Given the description of an element on the screen output the (x, y) to click on. 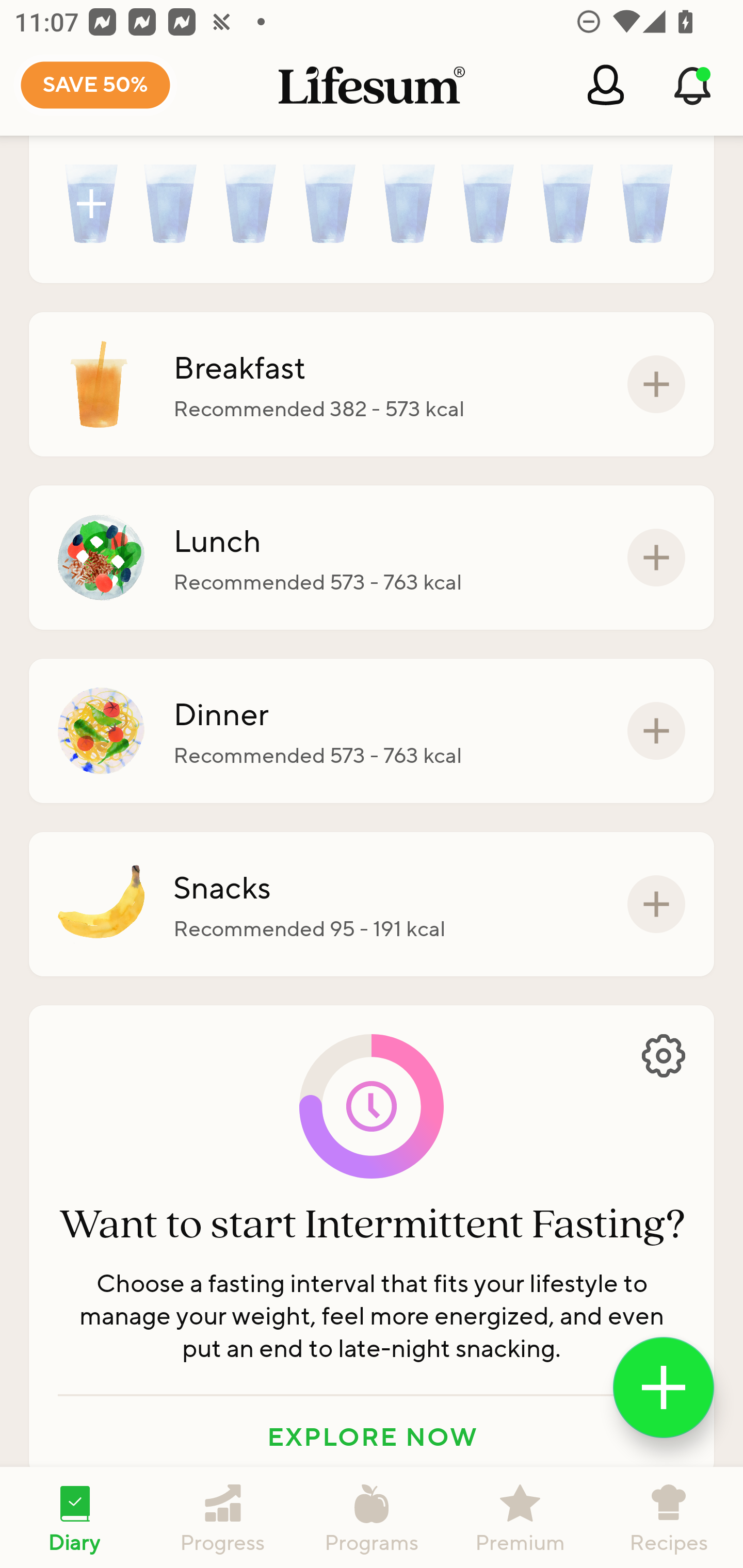
Breakfast Recommended 382 - 573 kcal (371, 384)
Lunch Recommended 573 - 763 kcal (371, 558)
Dinner Recommended 573 - 763 kcal (371, 730)
Snacks Recommended 95 - 191 kcal (371, 904)
EXPLORE NOW (371, 1435)
Progress (222, 1517)
Programs (371, 1517)
Premium (519, 1517)
Recipes (668, 1517)
